Given the description of an element on the screen output the (x, y) to click on. 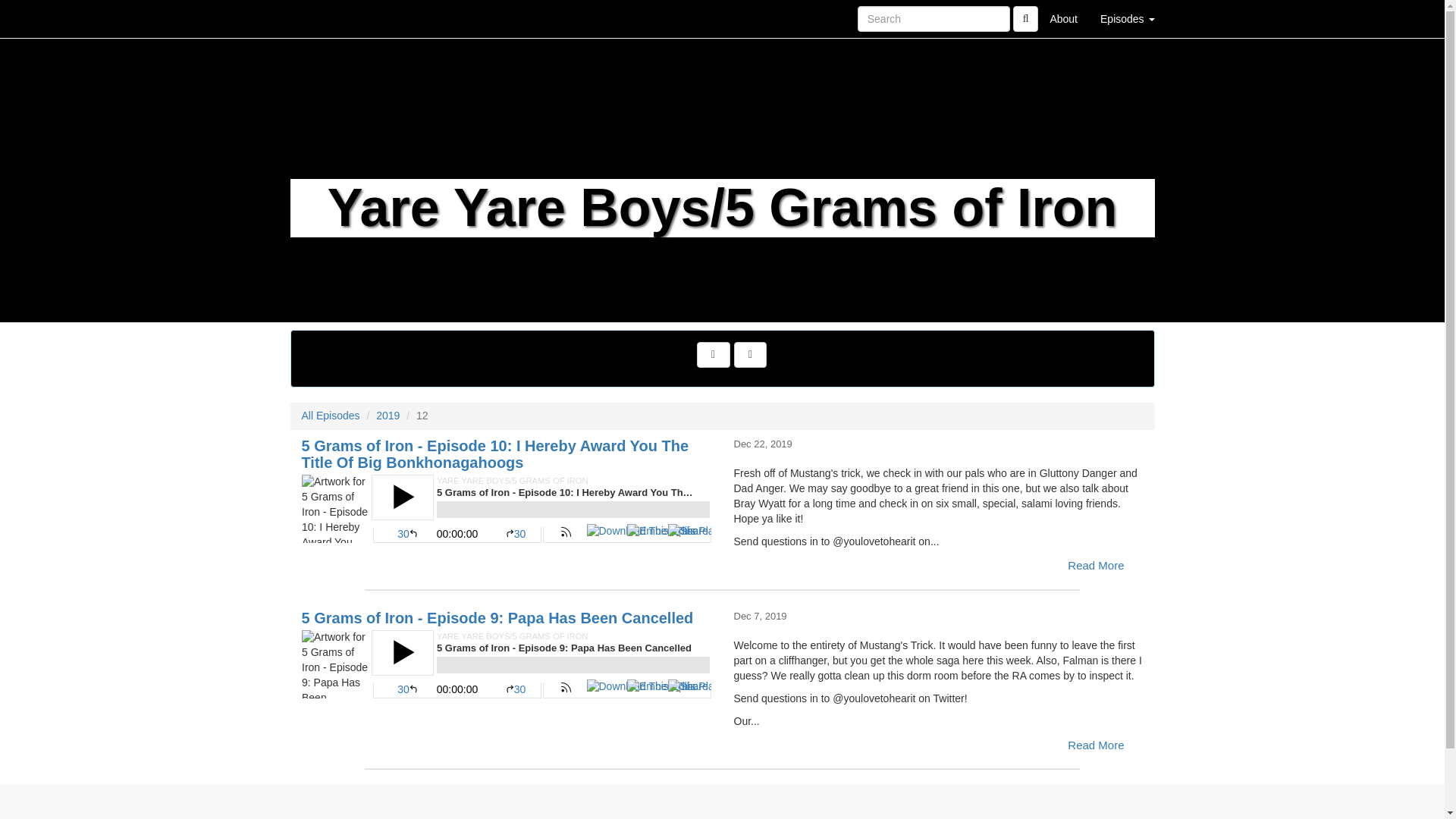
About (1063, 18)
Home Page (320, 18)
5 Grams of Iron - Episode 9: Papa Has Been Cancelled (506, 663)
Episodes (1127, 18)
